Given the description of an element on the screen output the (x, y) to click on. 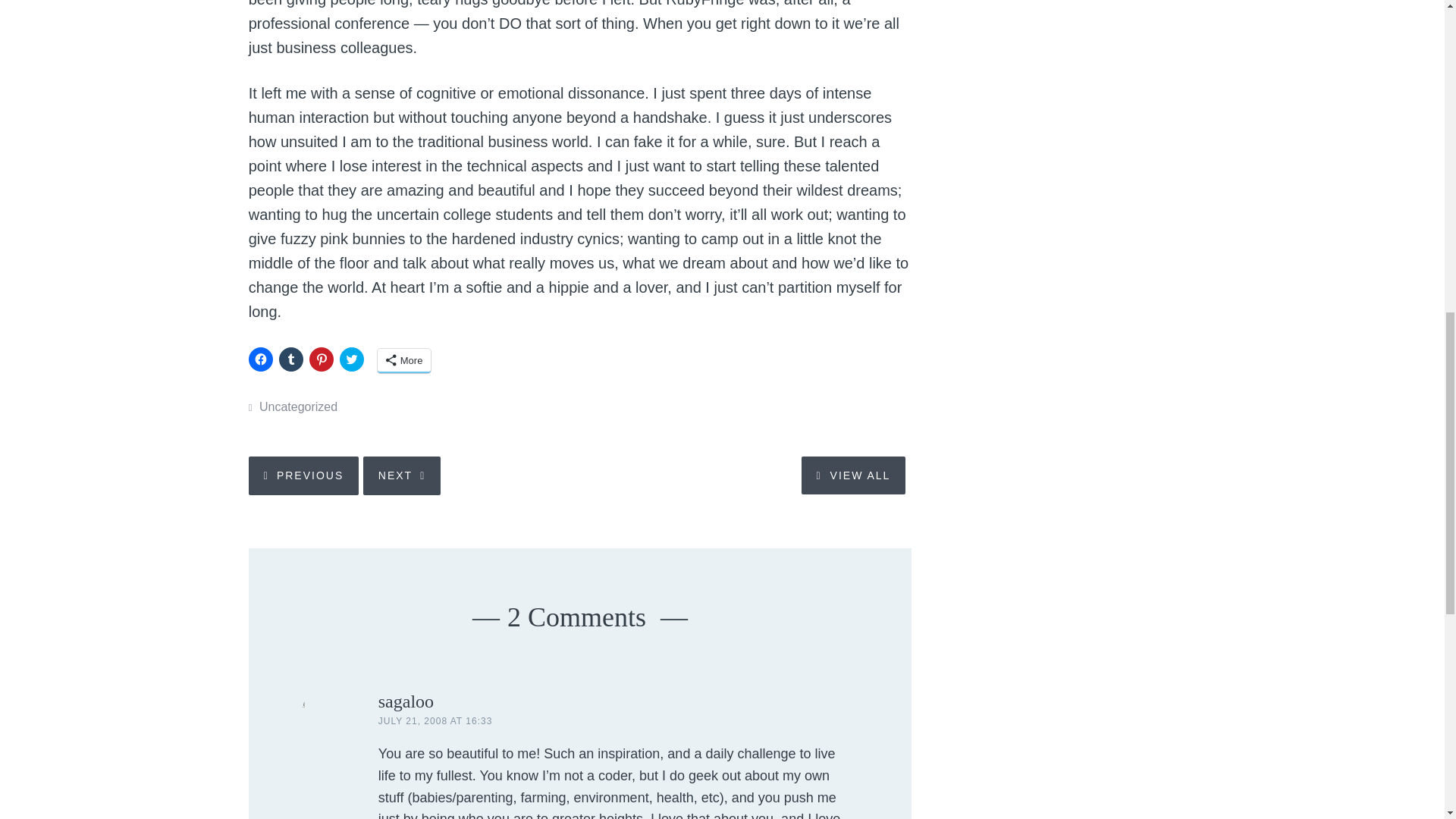
JULY 21, 2008 AT 16:33 (435, 720)
Click to share on Pinterest (320, 359)
More (403, 360)
Uncategorized (298, 406)
VIEW ALL (853, 475)
PREVIOUS (303, 475)
Click to share on Facebook (260, 359)
Click to share on Tumblr (290, 359)
NEXT (401, 475)
sagaloo (405, 701)
